Given the description of an element on the screen output the (x, y) to click on. 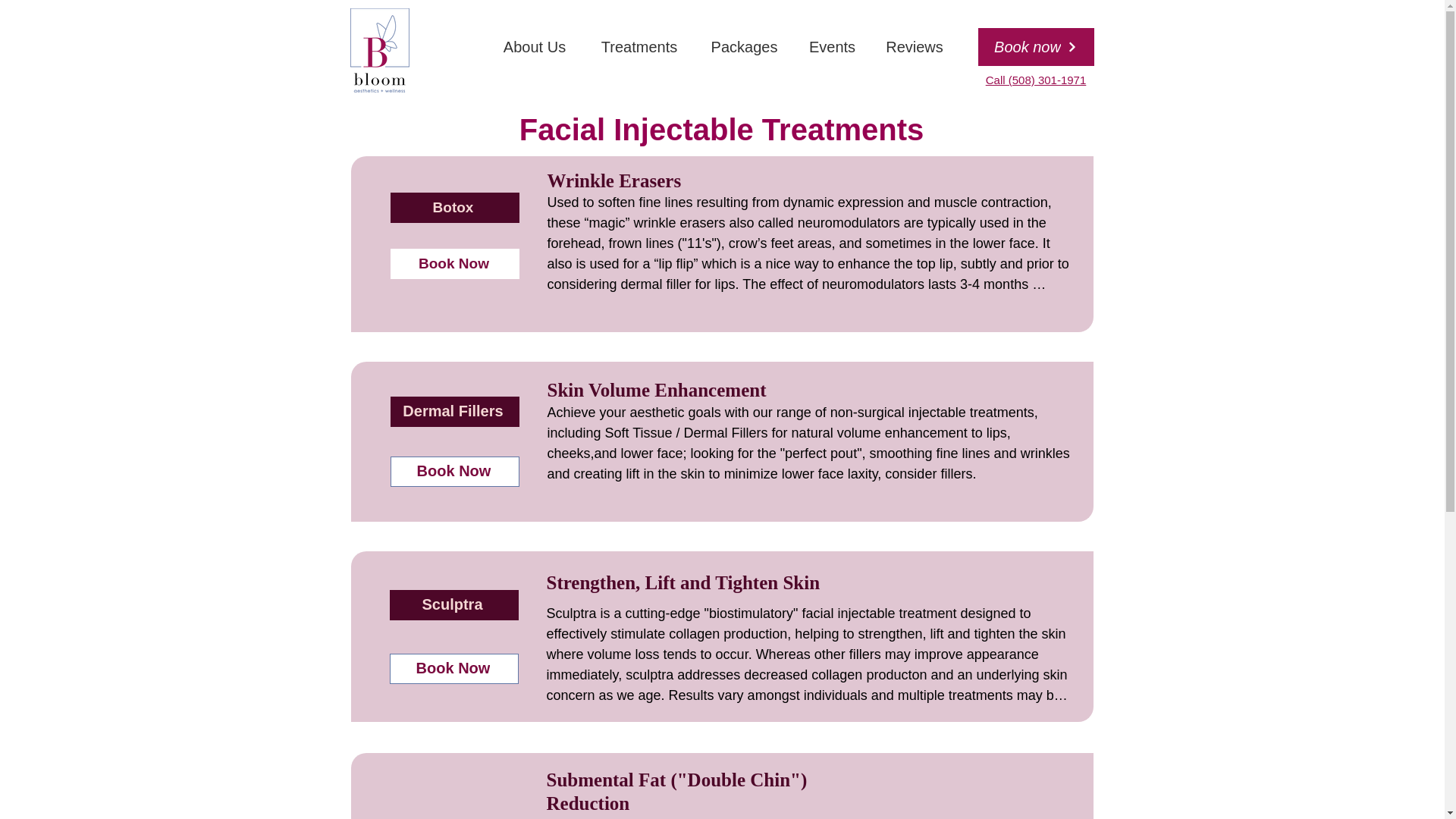
Reviews (915, 46)
Botox (454, 207)
Book Now (454, 263)
Book Now (454, 668)
Book now (1036, 46)
Sculptra (454, 604)
About Us (534, 46)
Book Now (454, 471)
Dermal Fillers (454, 410)
